Given the description of an element on the screen output the (x, y) to click on. 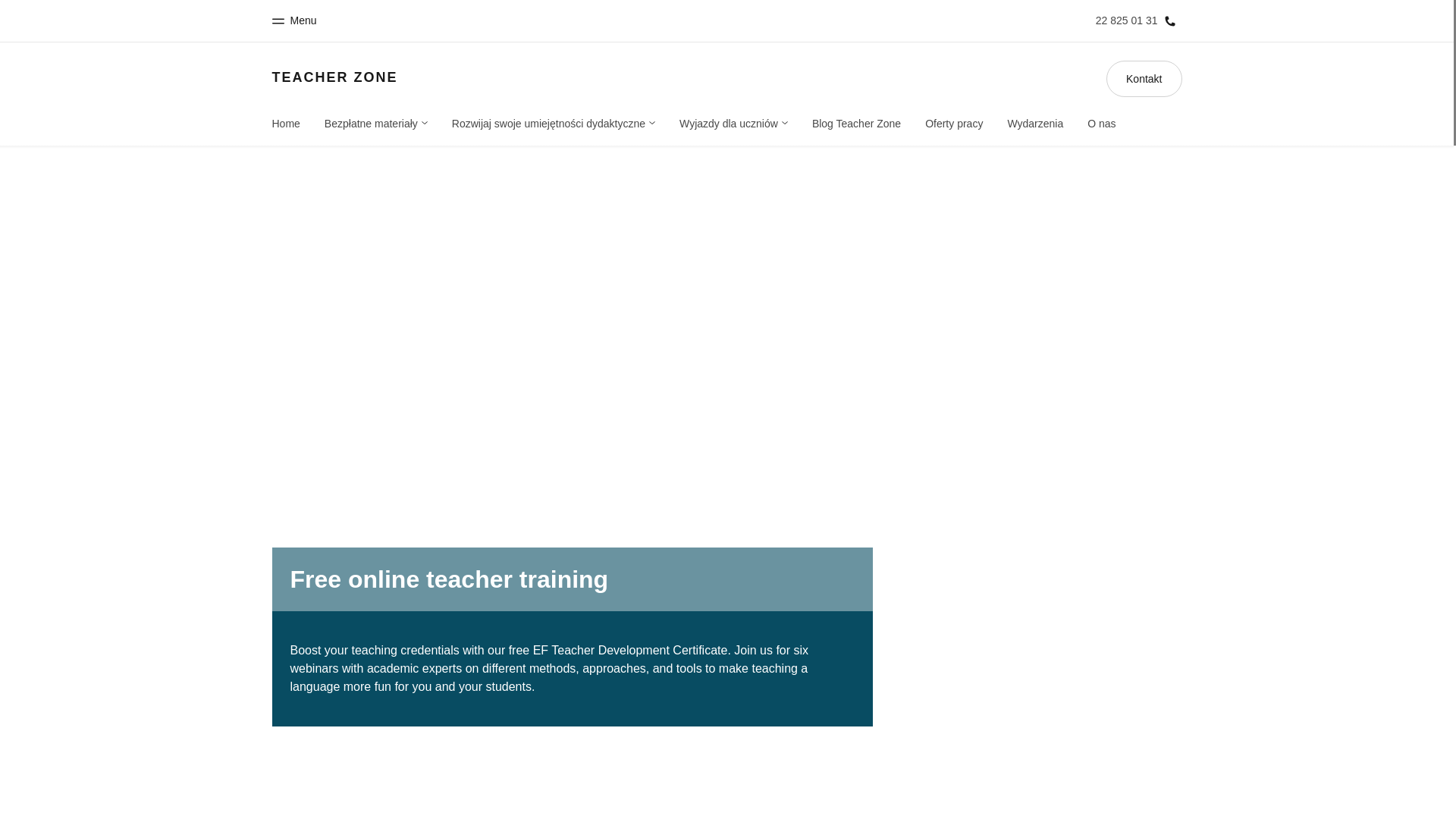
22 825 01 31 (1136, 20)
Menu (292, 20)
O nas (1101, 123)
Blog Teacher Zone (856, 123)
Wydarzenia (1034, 123)
Home (284, 123)
Kontakt (1143, 78)
Oferty pracy (953, 123)
TEACHER ZONE (333, 77)
